Given the description of an element on the screen output the (x, y) to click on. 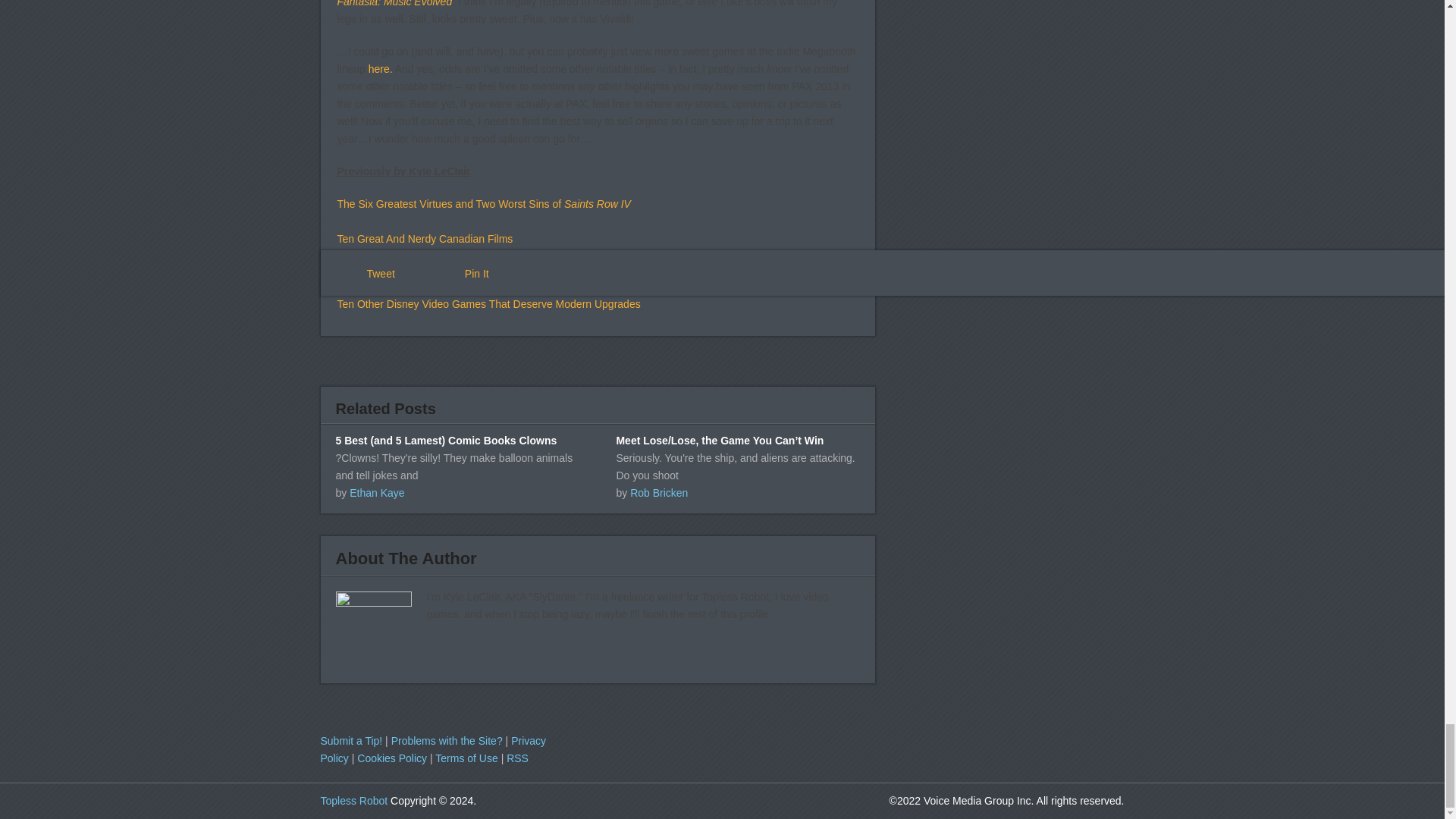
YouTube (952, 744)
Posts by Ethan Kaye (376, 492)
Posts by Rob Bricken (658, 492)
Reddit (984, 744)
Twitter (920, 744)
Facebook (889, 744)
The Crudetons on your Word Salad (353, 800)
